Given the description of an element on the screen output the (x, y) to click on. 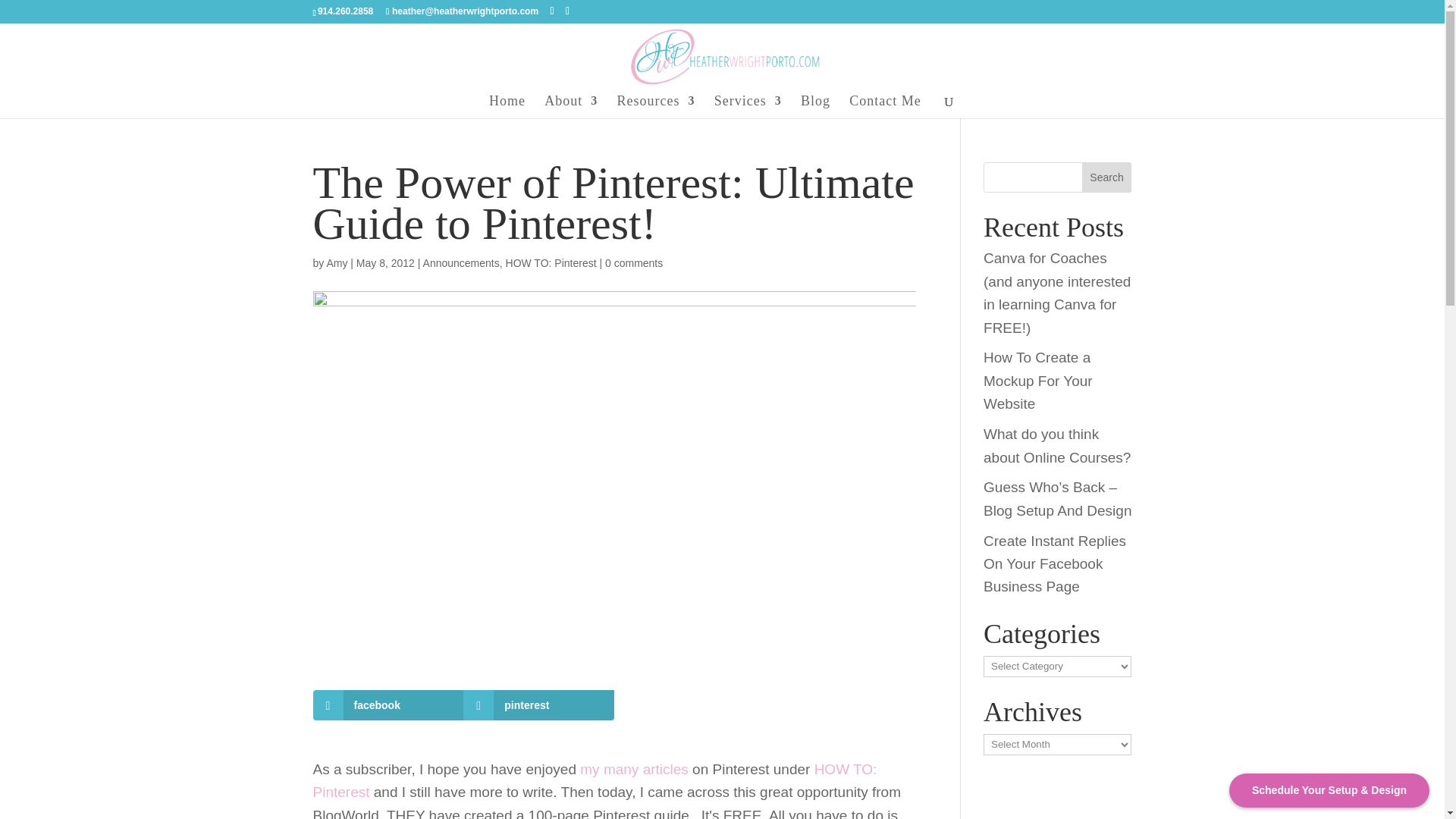
HOW TO: Pinterest (550, 263)
Pinterest guide (636, 769)
Services (747, 106)
Announcements (461, 263)
How to Pinterest (594, 780)
About (570, 106)
Resources (654, 106)
Contact Me (884, 106)
Amy (336, 263)
0 comments (633, 263)
Posts by Amy (336, 263)
Blog (814, 106)
Search (1106, 177)
Home (507, 106)
